Given the description of an element on the screen output the (x, y) to click on. 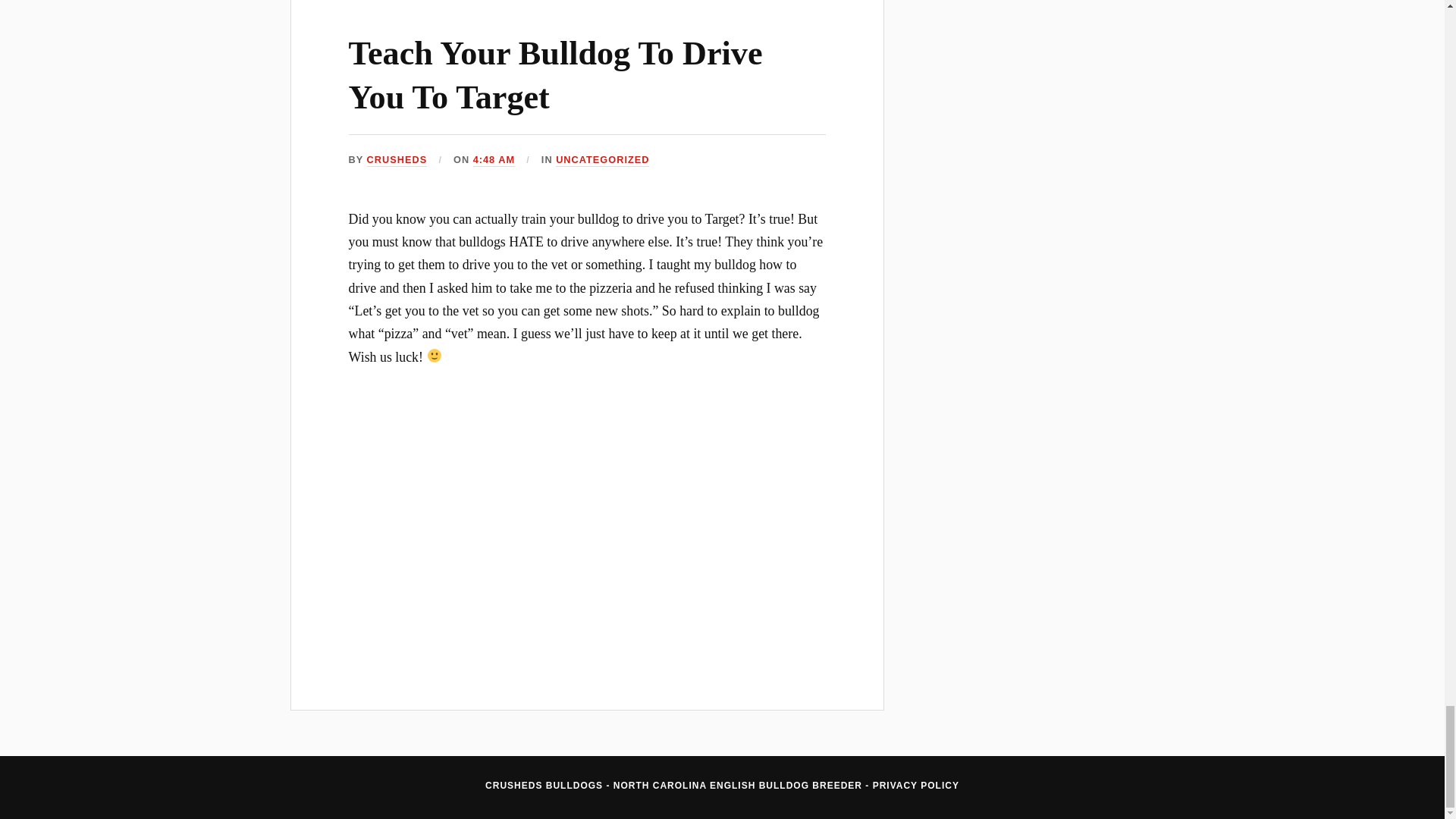
Teach Your Bulldog To Drive You To Target (555, 75)
Posts by CrushEds (397, 160)
4:48 AM (494, 160)
CRUSHEDS (397, 160)
UNCATEGORIZED (602, 160)
